Given the description of an element on the screen output the (x, y) to click on. 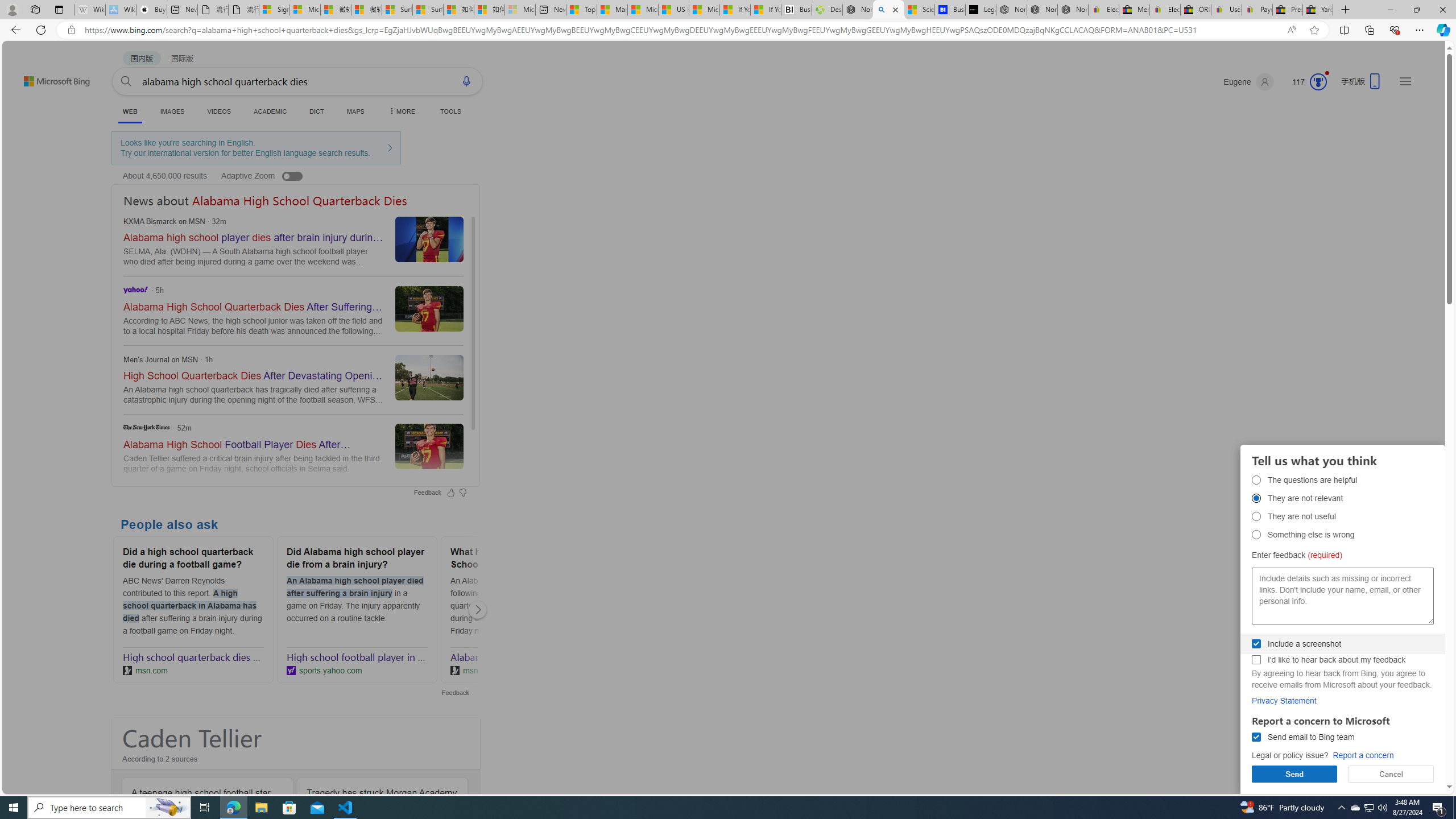
Cancel (1391, 773)
US Heat Deaths Soared To Record High Last Year (673, 9)
Something else is wrong Something else is wrong (1256, 533)
Sign in to your Microsoft account (274, 9)
AutomationID: fbpgdgml (1256, 737)
AutomationID: fbpgdgsschk (1256, 643)
AutomationID: fbpgdgsat (1256, 479)
